Given the description of an element on the screen output the (x, y) to click on. 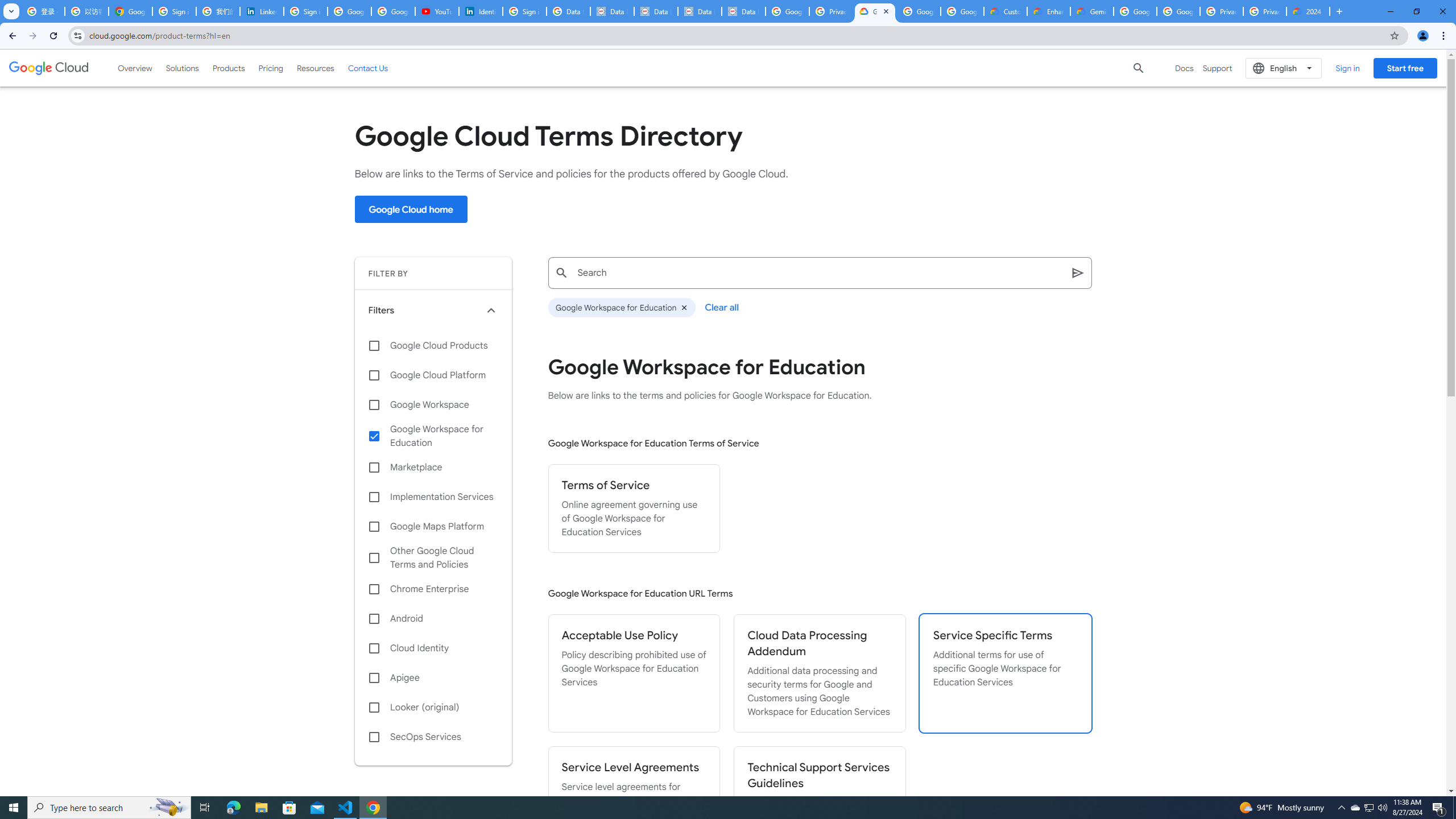
Apigee (432, 677)
Android (432, 618)
Google Cloud (48, 67)
Products (228, 67)
Data Privacy Framework (743, 11)
